Given the description of an element on the screen output the (x, y) to click on. 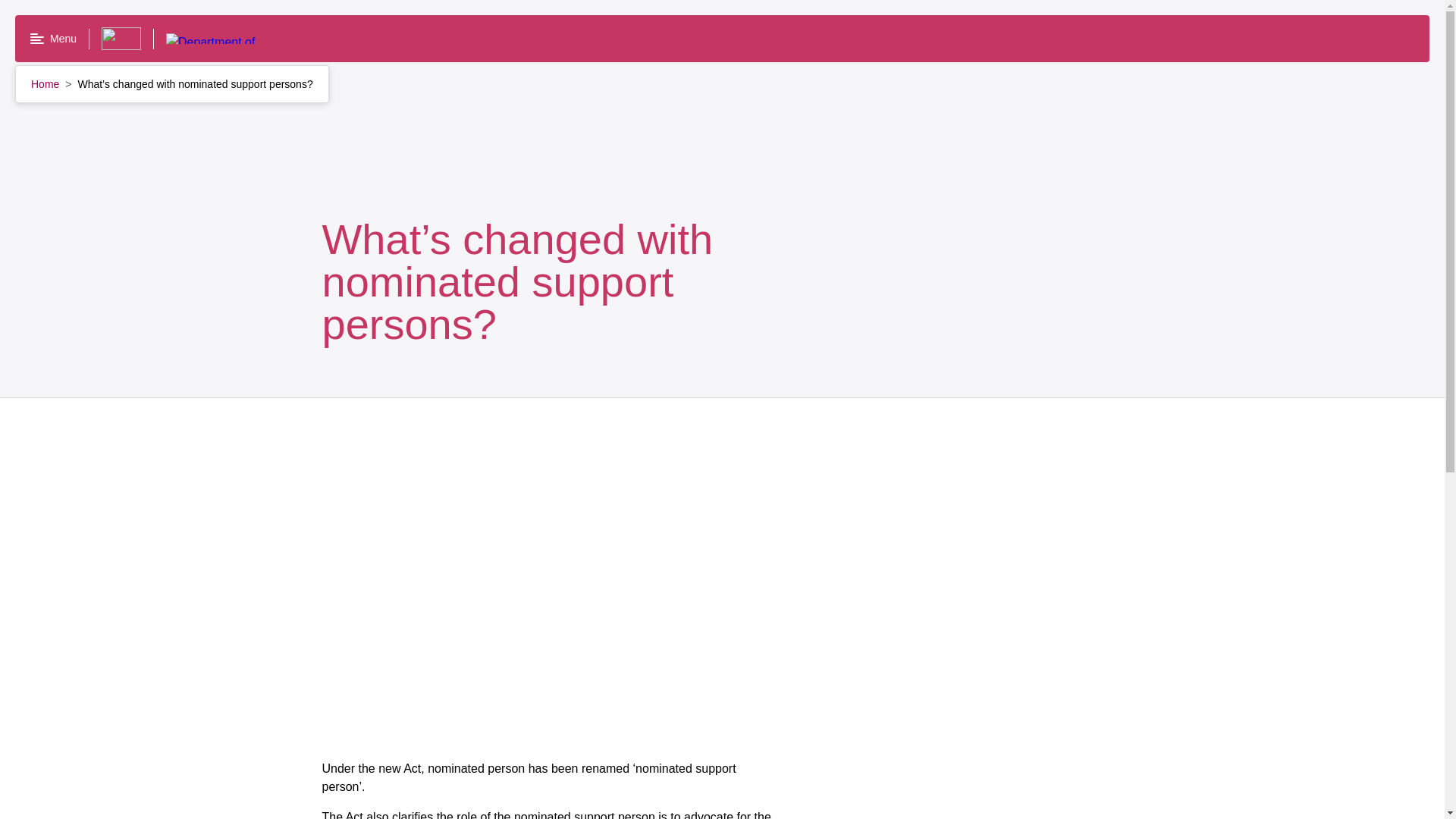
Home (46, 83)
Menu (53, 38)
